Given the description of an element on the screen output the (x, y) to click on. 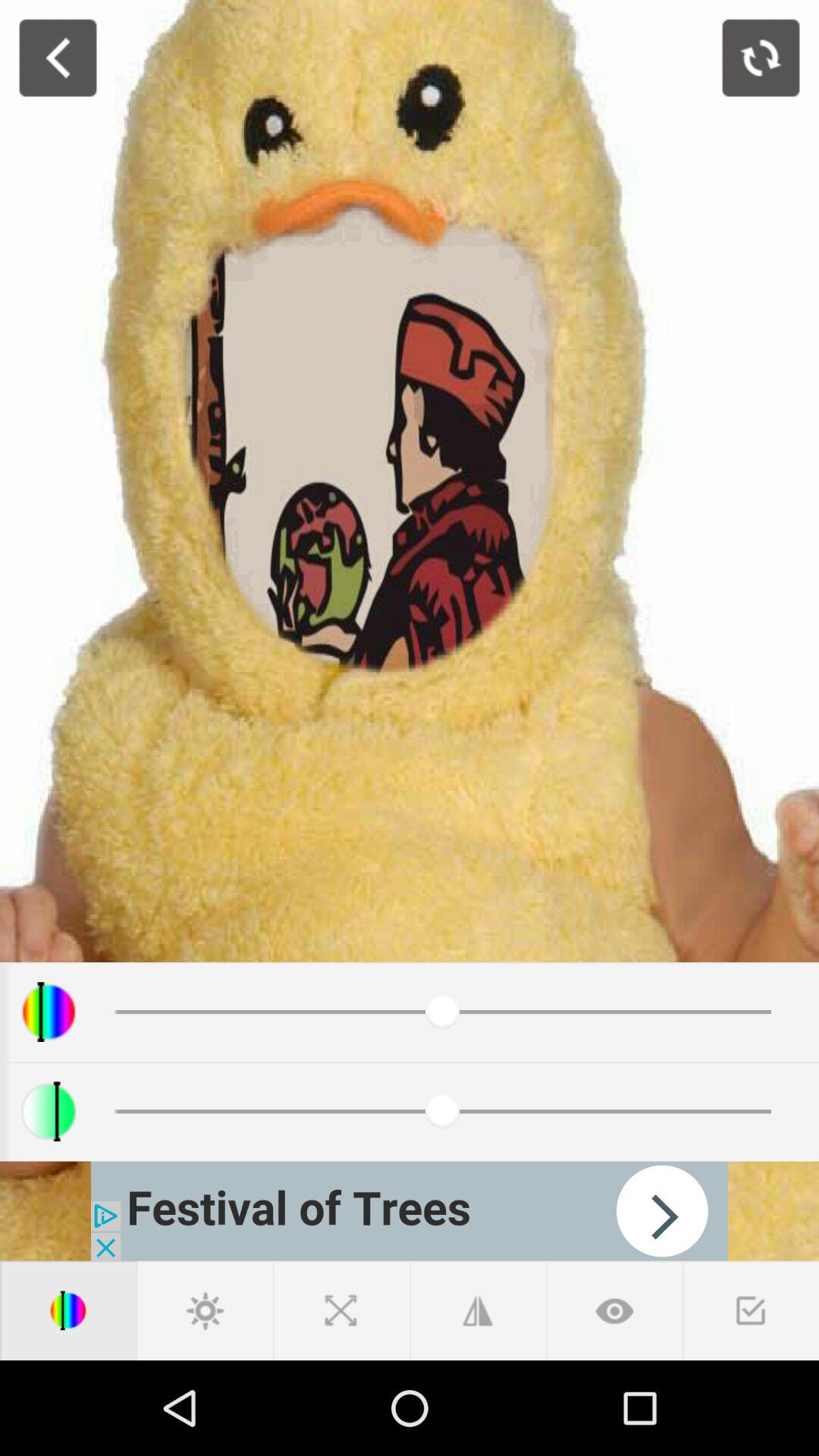
rotate image (760, 57)
